Given the description of an element on the screen output the (x, y) to click on. 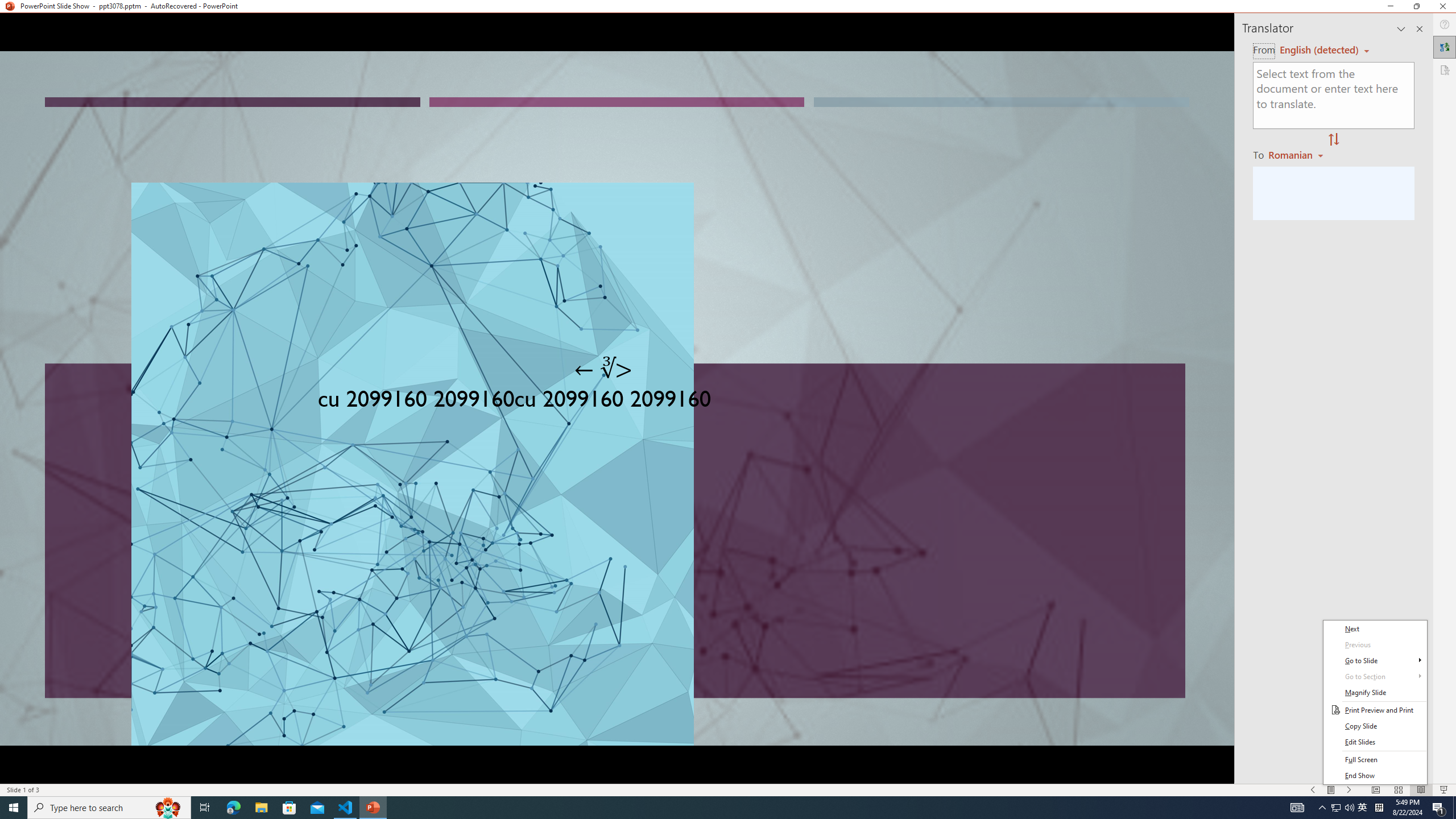
Microsoft Edge (233, 807)
Action Center, 1 new notification (1439, 807)
Go to Section (1374, 676)
Print Preview and Print (1374, 710)
End Show (1374, 775)
Context Menu (1374, 701)
Romanian (1296, 154)
